Given the description of an element on the screen output the (x, y) to click on. 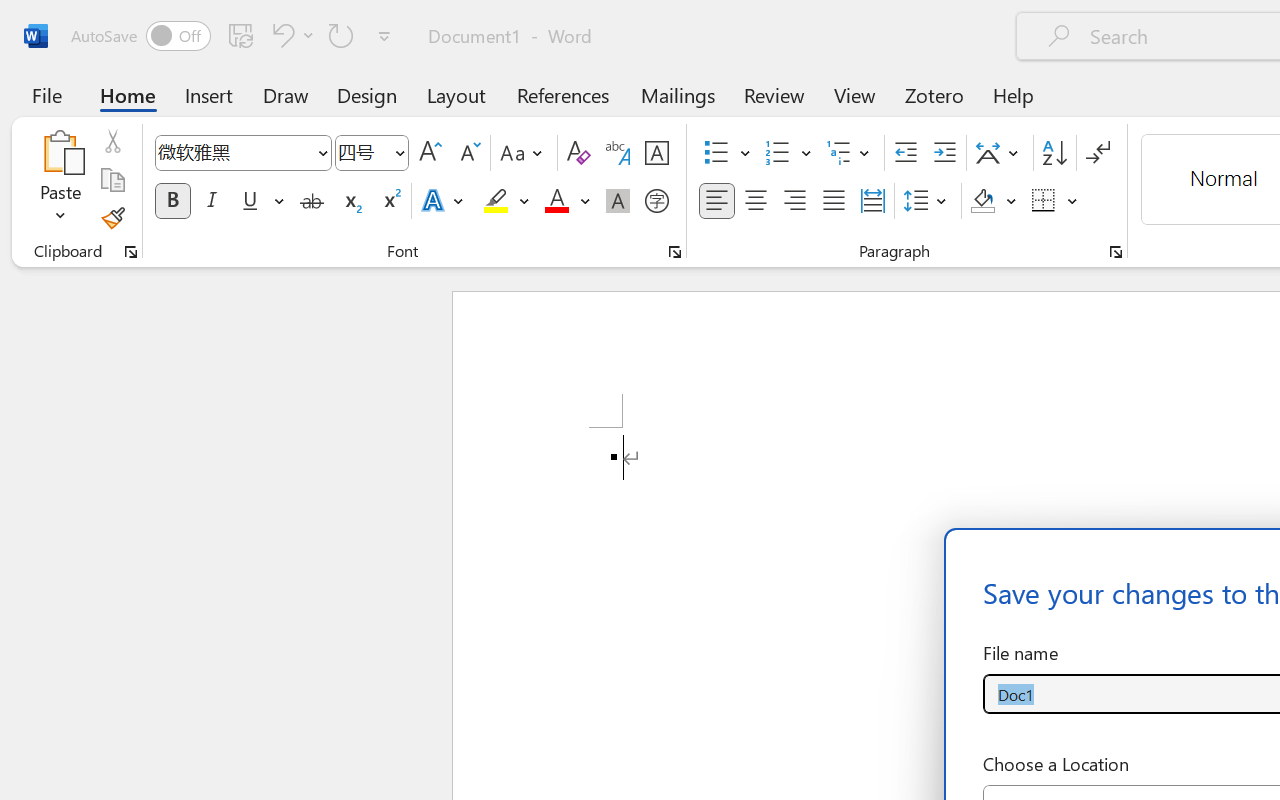
Font Color Red (556, 201)
